Given the description of an element on the screen output the (x, y) to click on. 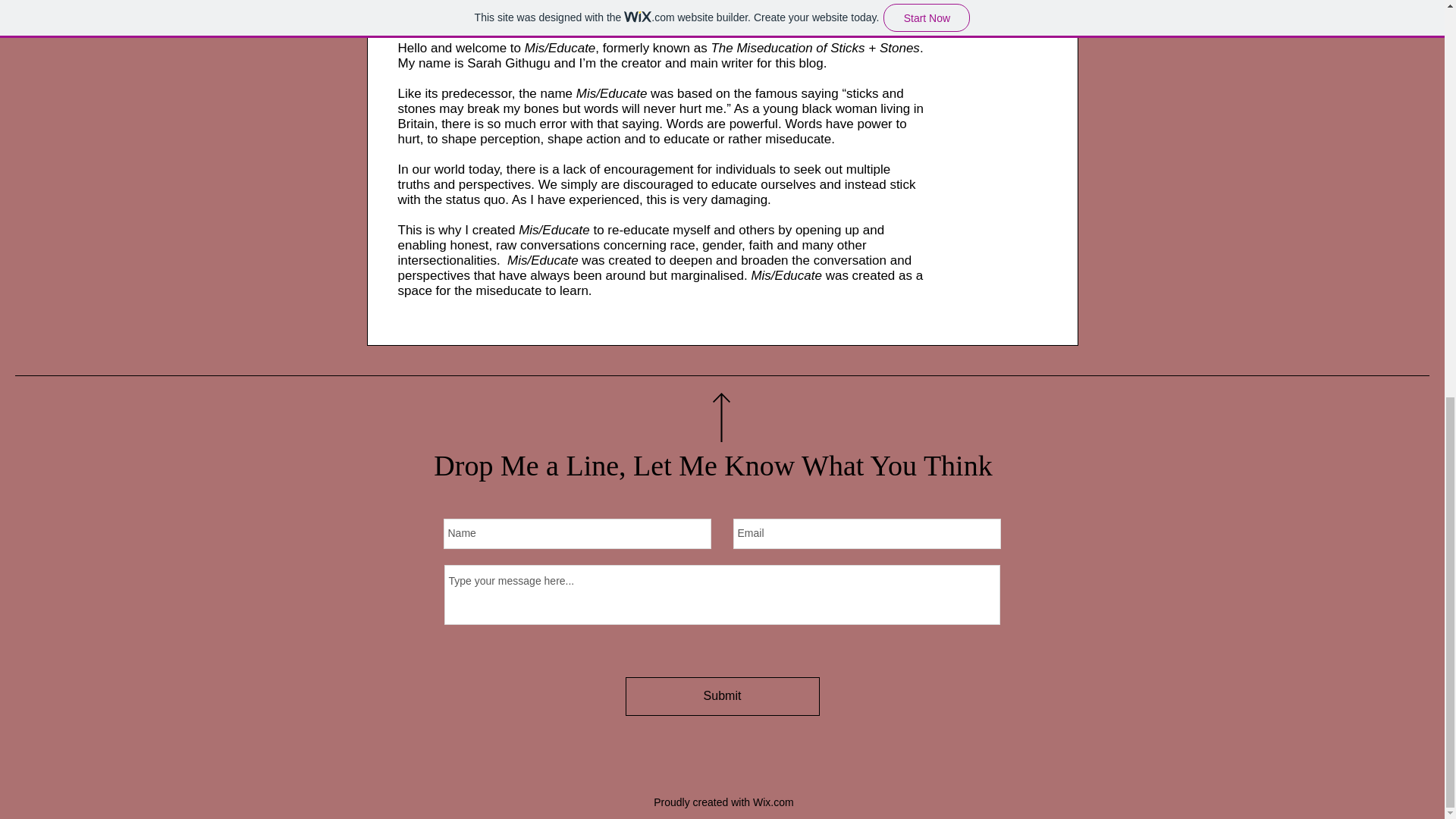
Wix.com (772, 802)
Submit (721, 696)
